Given the description of an element on the screen output the (x, y) to click on. 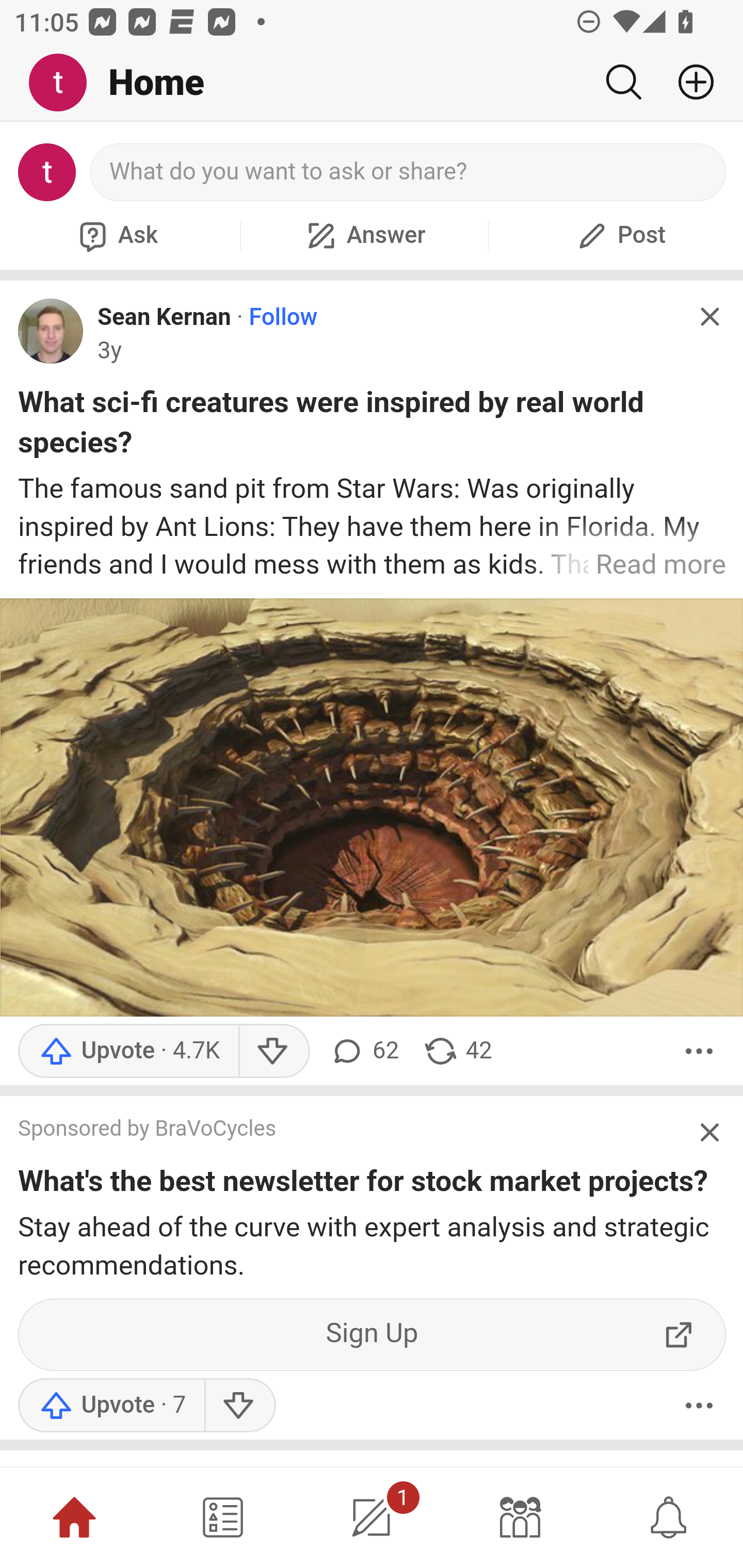
Me (64, 83)
Search (623, 82)
Add (688, 82)
What do you want to ask or share? (408, 172)
Ask (116, 234)
Answer (364, 234)
Post (618, 234)
Hide (709, 316)
Profile photo for Sean Kernan (50, 330)
Sean Kernan (164, 316)
Follow (283, 316)
Upvote (127, 1050)
Downvote (273, 1050)
62 comments (363, 1050)
42 shares (457, 1050)
More (699, 1050)
Hide (709, 1131)
Sponsored by BraVoCycles (352, 1130)
Sign Up ExternalLink (372, 1335)
Upvote (111, 1405)
Downvote (238, 1405)
More (699, 1405)
1 (371, 1517)
